Given the description of an element on the screen output the (x, y) to click on. 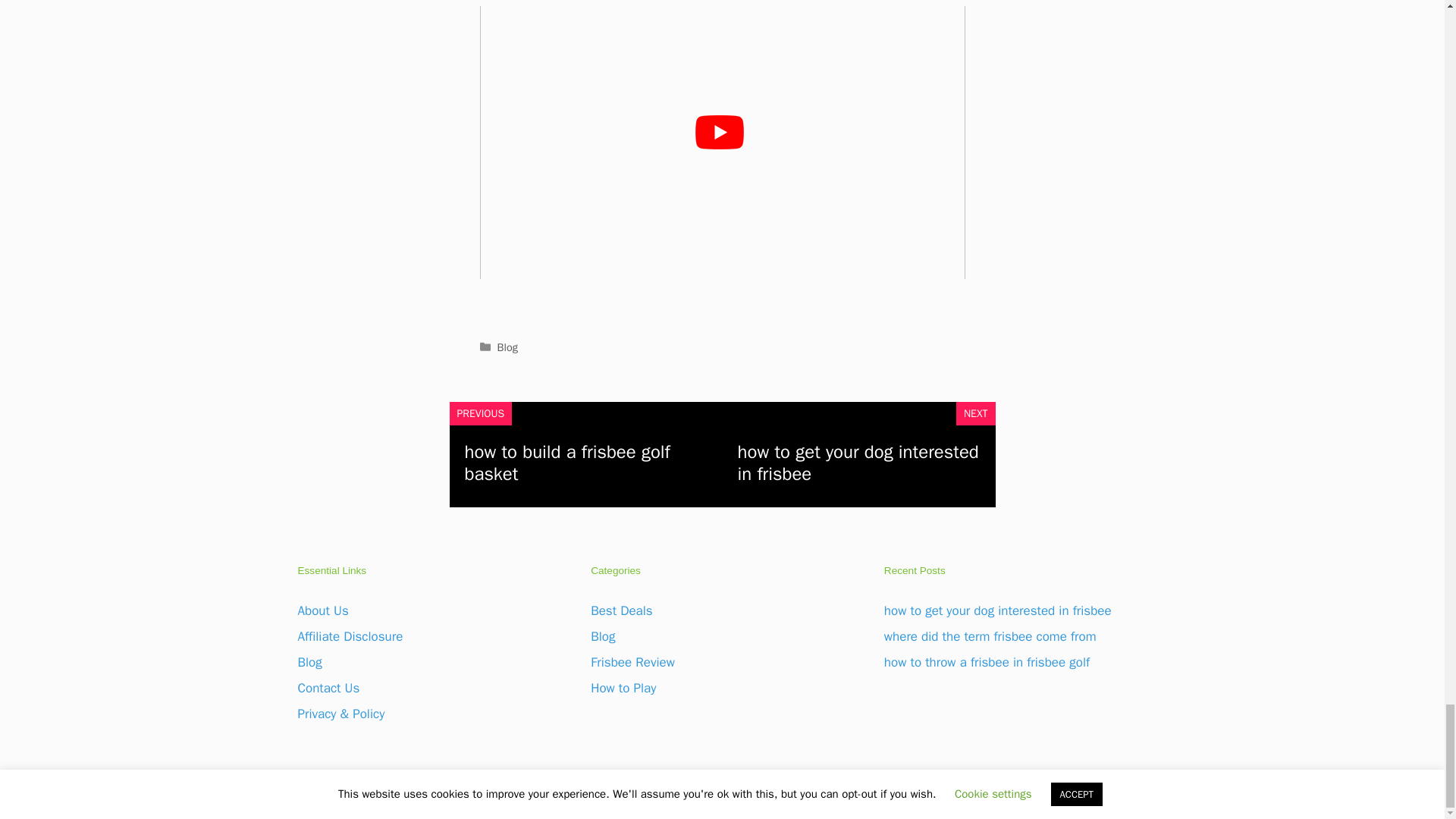
Best Deals (621, 610)
How to Play (623, 688)
how to get your dog interested in frisbee (857, 462)
how to build a frisbee golf basket (566, 462)
how to get your dog interested in frisbee (997, 610)
Blog (602, 636)
Blog (507, 346)
Top Frisbee (789, 794)
Contact Us (328, 688)
how to throw a frisbee in frisbee golf (986, 662)
